Given the description of an element on the screen output the (x, y) to click on. 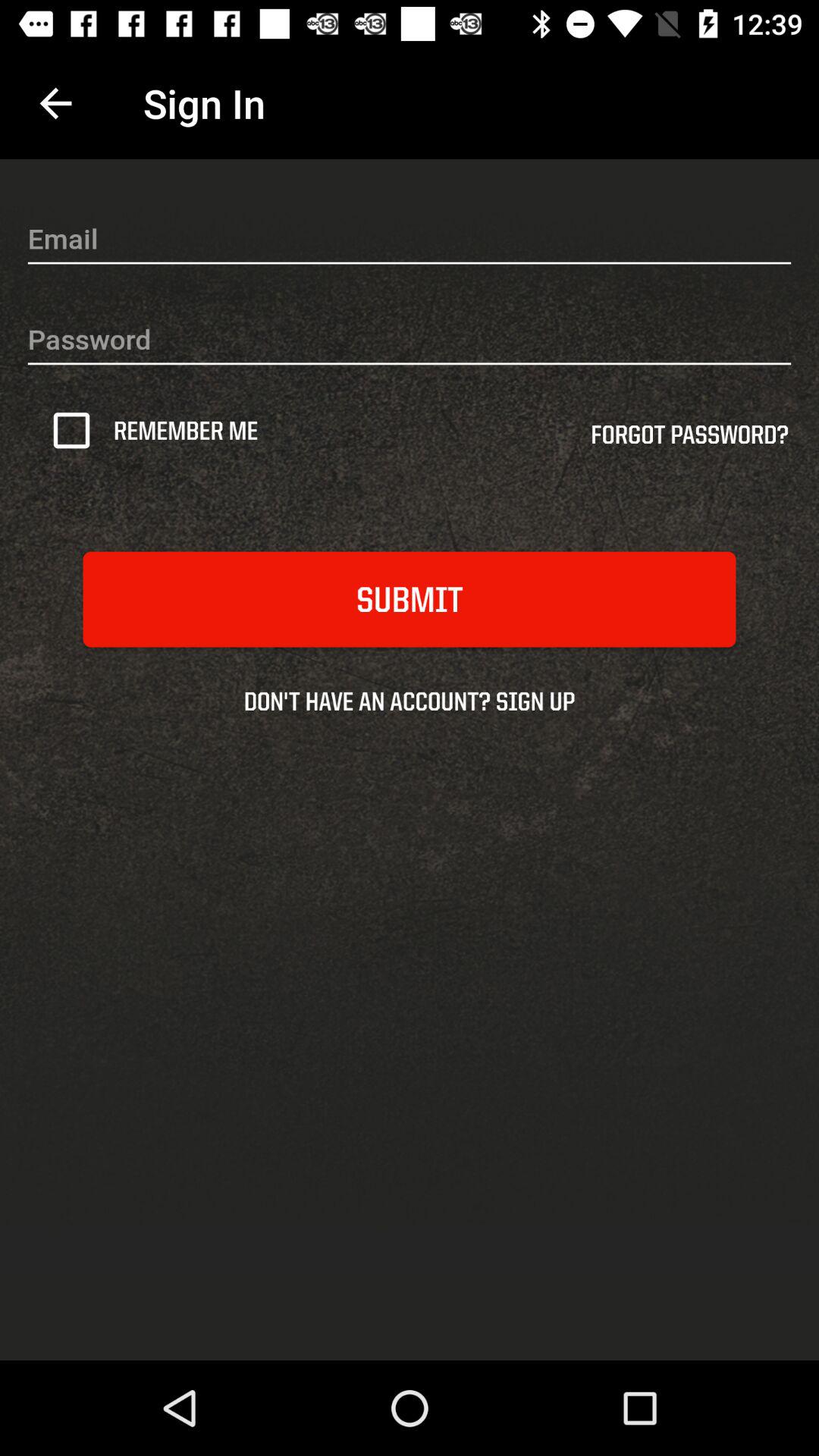
select icon above the submit (689, 439)
